Given the description of an element on the screen output the (x, y) to click on. 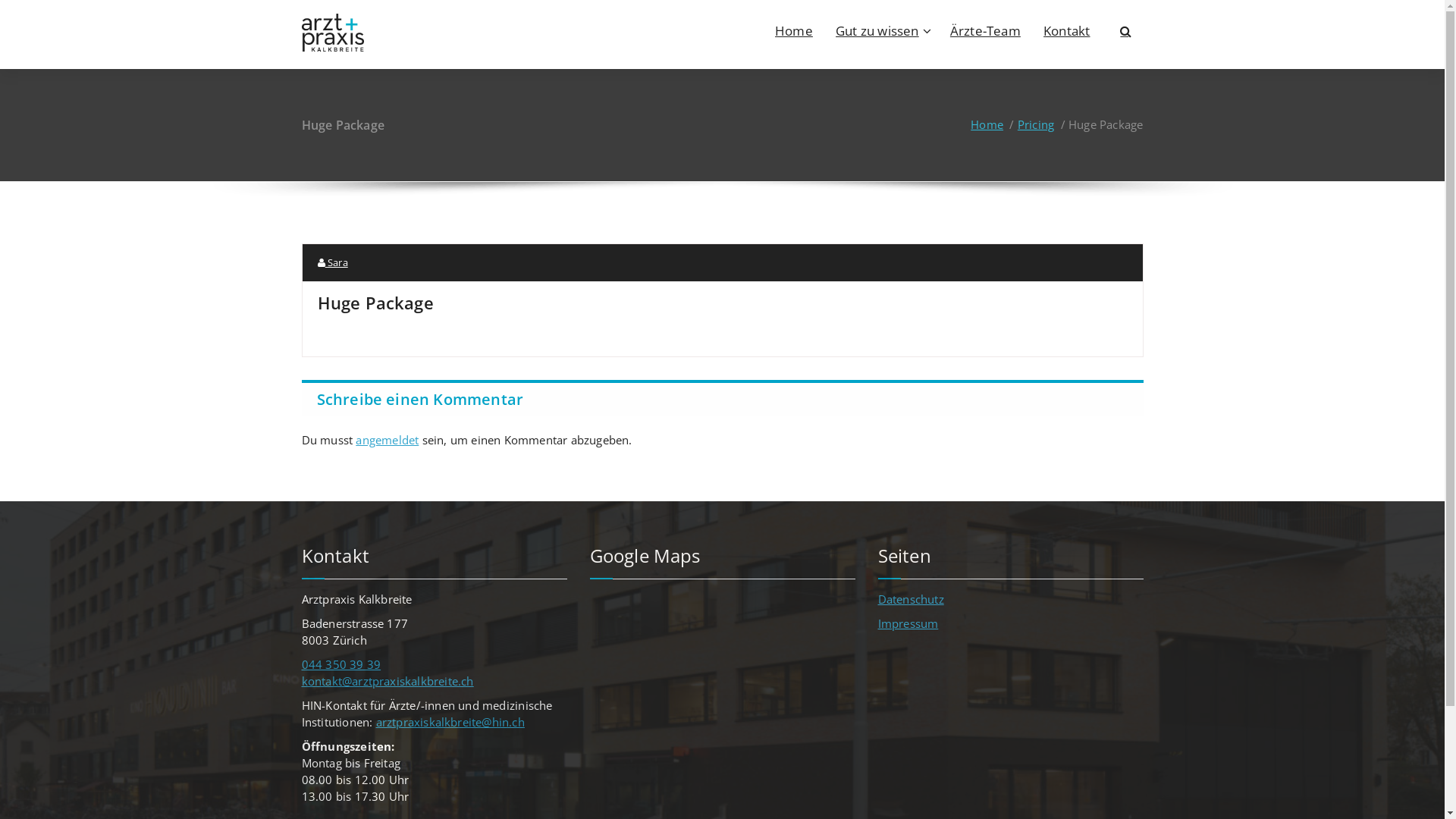
Datenschutz Element type: text (911, 598)
Pricing Element type: text (1035, 123)
Home Element type: text (793, 30)
Kontakt Element type: text (1066, 30)
arztpraxiskalkbreite@hin.ch Element type: text (450, 721)
Gut zu wissen Element type: text (881, 30)
Sara Element type: text (331, 262)
angemeldet Element type: text (386, 439)
kontakt@arztpraxiskalkbreite.ch Element type: text (387, 680)
Impressum Element type: text (908, 622)
Home Element type: text (986, 123)
044 350 39 39 Element type: text (341, 663)
